Given the description of an element on the screen output the (x, y) to click on. 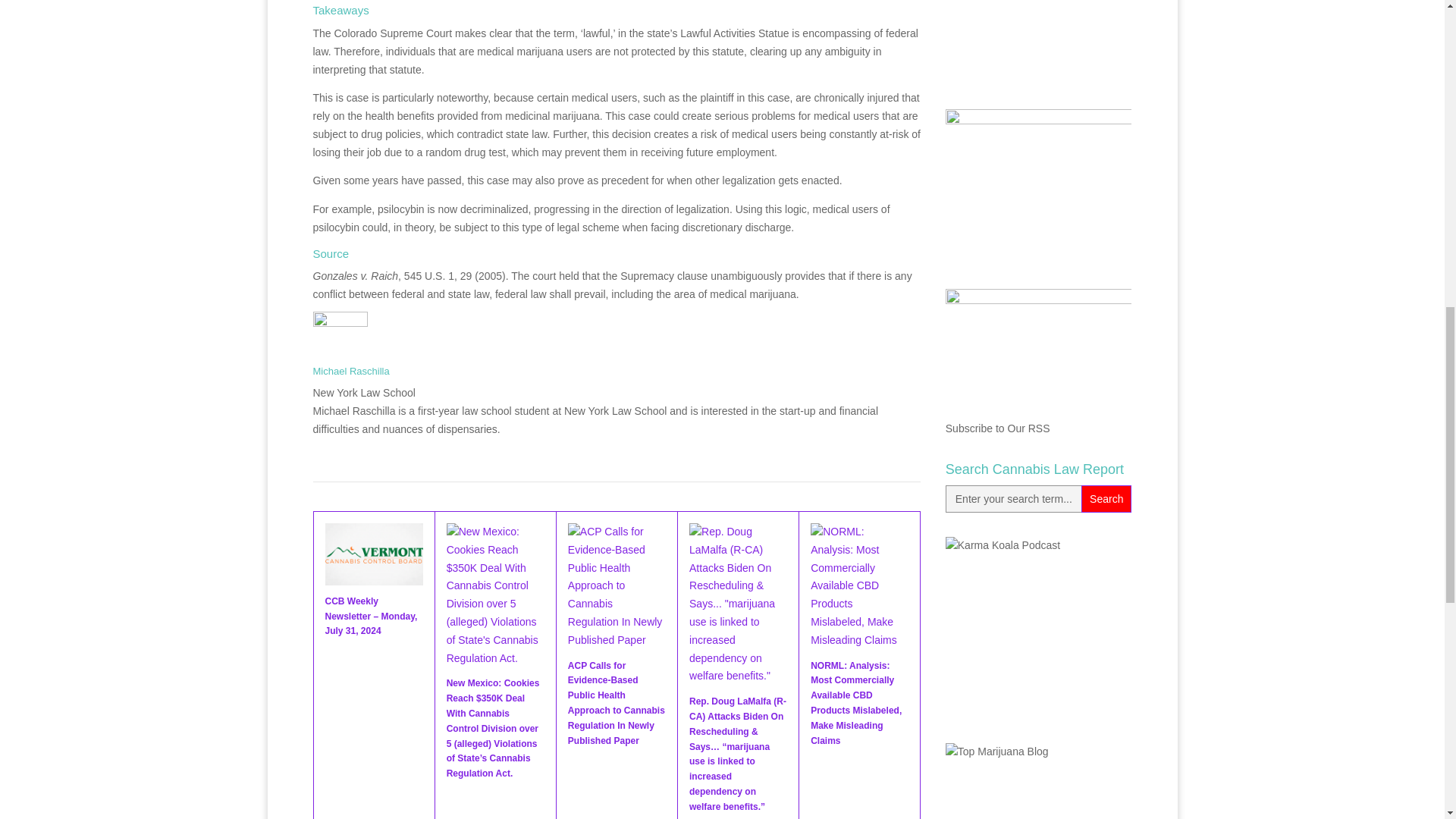
Search (1106, 498)
Search (1106, 498)
